Given the description of an element on the screen output the (x, y) to click on. 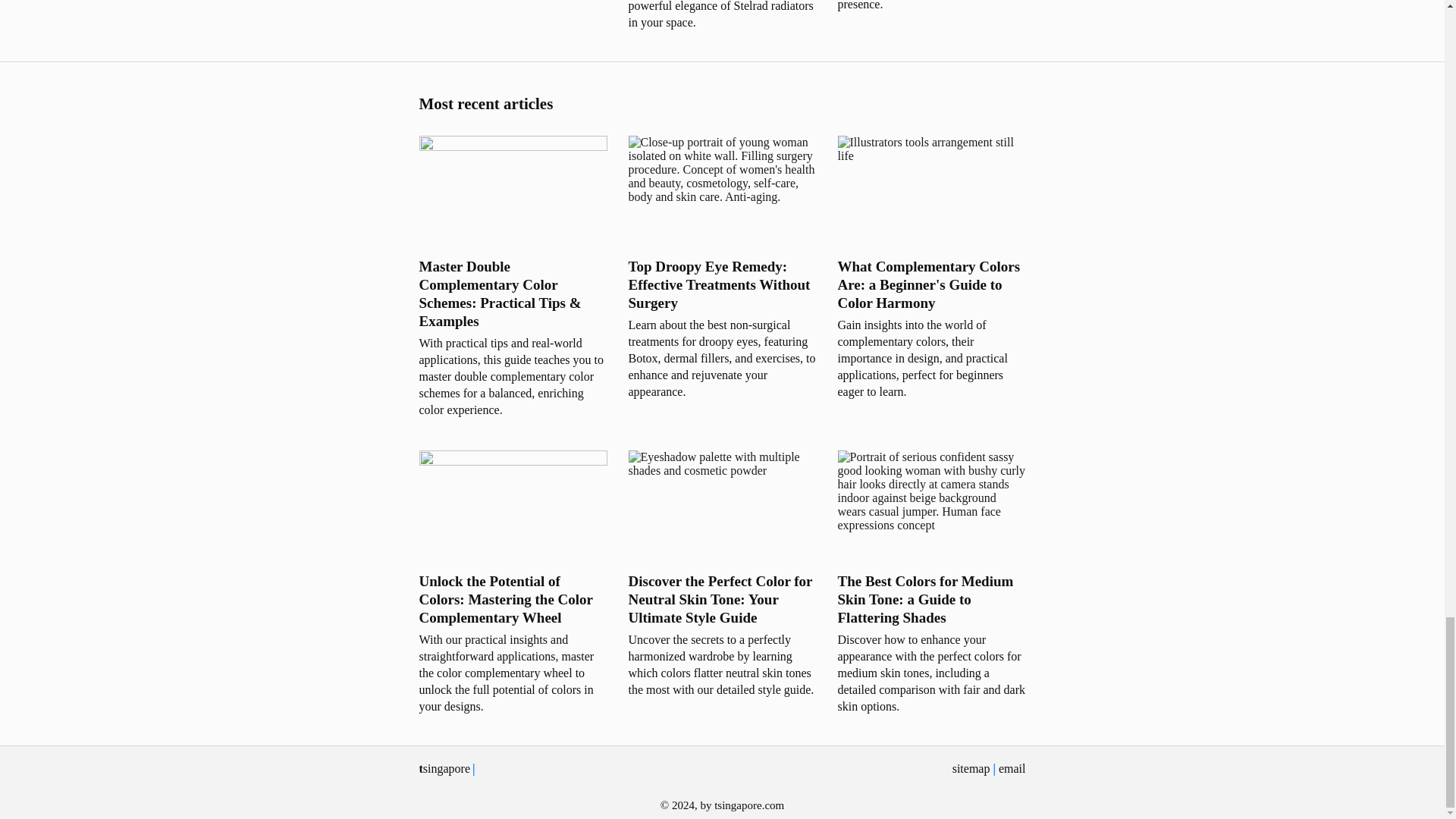
sitemap (971, 768)
email (1012, 768)
